Given the description of an element on the screen output the (x, y) to click on. 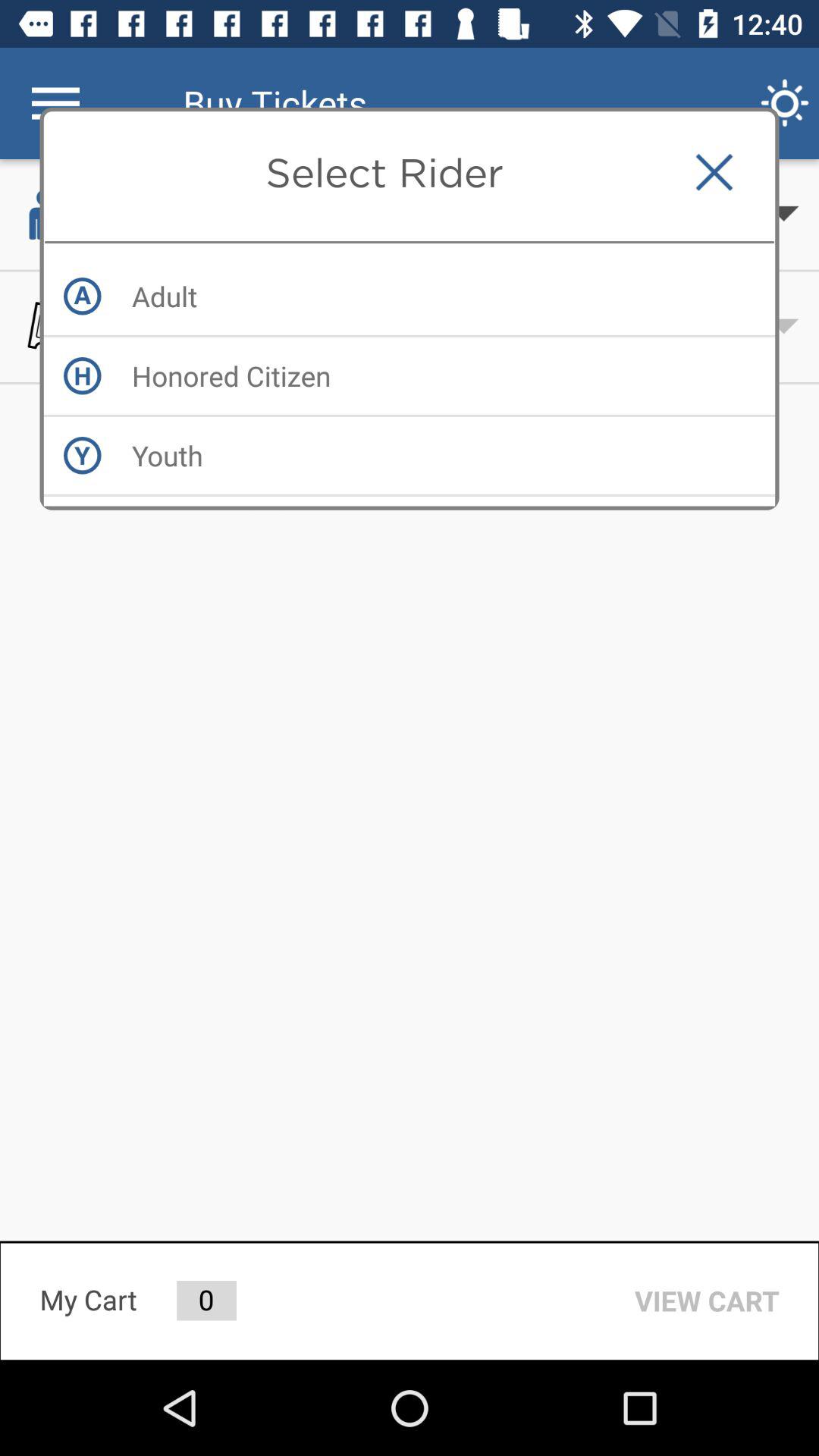
turn on icon at the top right corner (714, 172)
